Given the description of an element on the screen output the (x, y) to click on. 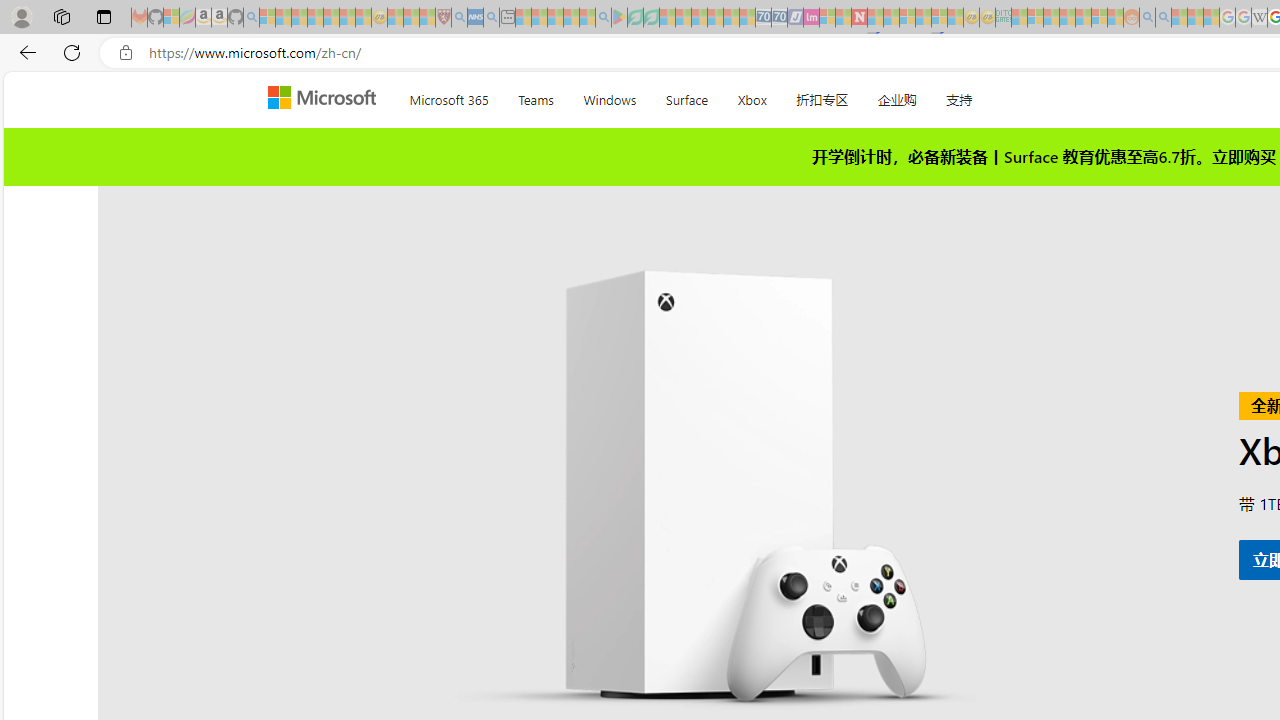
NCL Adult Asthma Inhaler Choice Guideline - Sleeping (475, 17)
Windows (609, 96)
Xbox (751, 96)
google - Search - Sleeping (603, 17)
Utah sues federal government - Search - Sleeping (1163, 17)
Back (24, 52)
Personal Profile (21, 16)
Jobs - lastminute.com Investor Portal - Sleeping (811, 17)
